Given the description of an element on the screen output the (x, y) to click on. 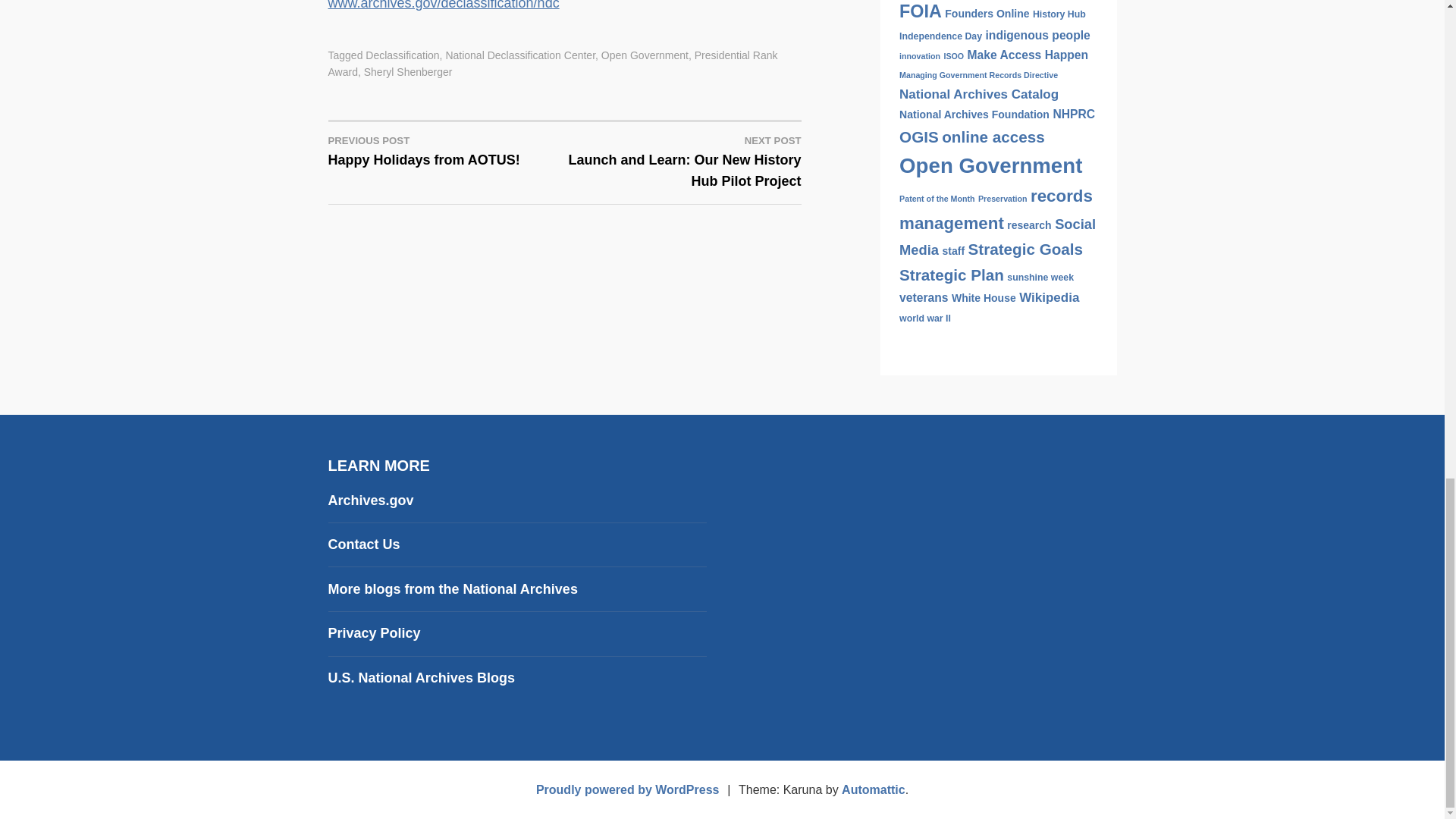
Open Government (445, 149)
Sheryl Shenberger (644, 55)
U.S. National Archives Blogroll (408, 71)
Declassification (420, 677)
Presidential Rank Award (402, 55)
National Archives privacy policy (552, 63)
U.S. National Archives Blogroll (373, 632)
National Declassification Center (451, 589)
Contact information (520, 55)
